Given the description of an element on the screen output the (x, y) to click on. 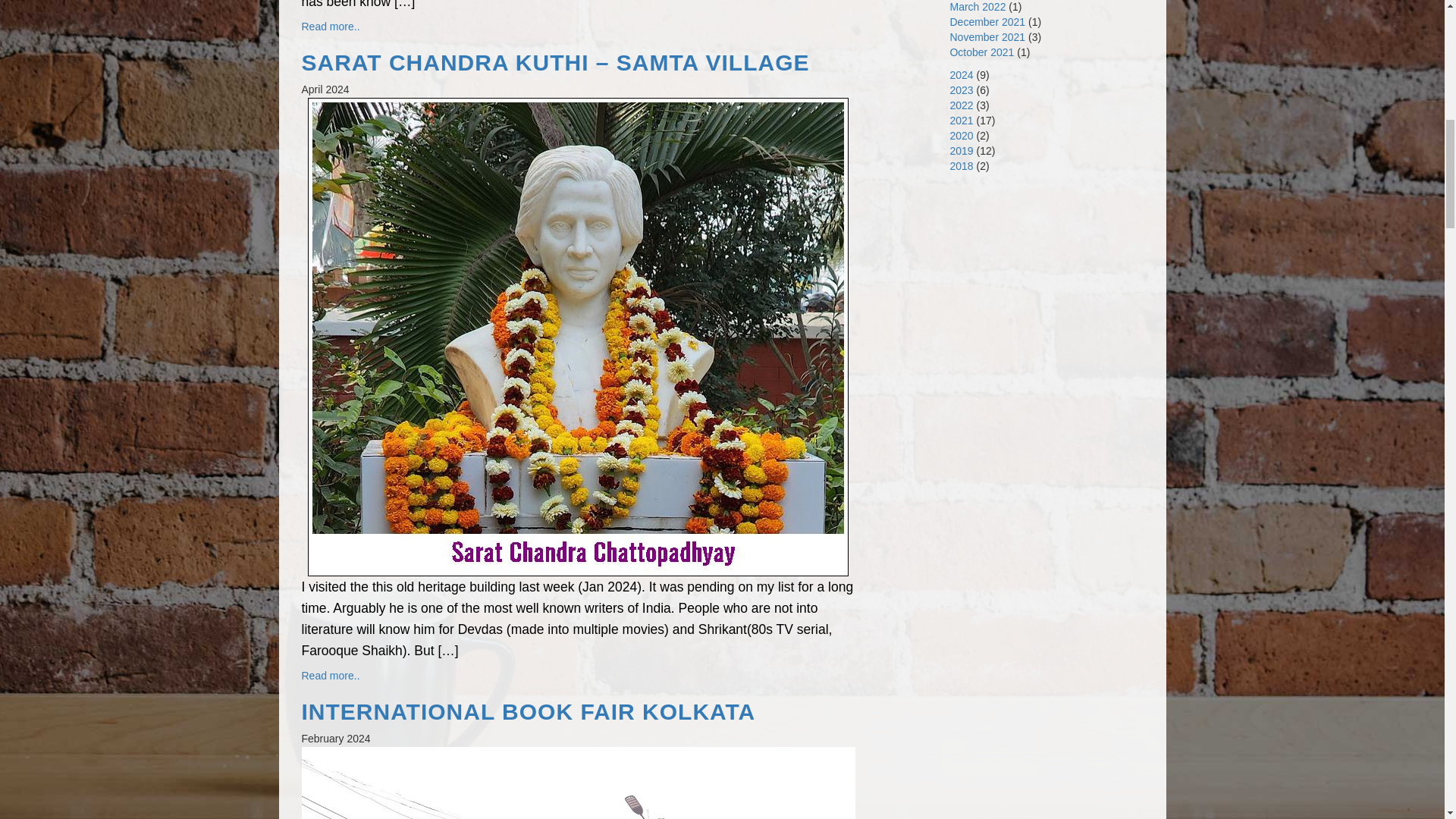
Read more.. (330, 675)
Read more.. (330, 26)
INTERNATIONAL BOOK FAIR KOLKATA (578, 711)
